Given the description of an element on the screen output the (x, y) to click on. 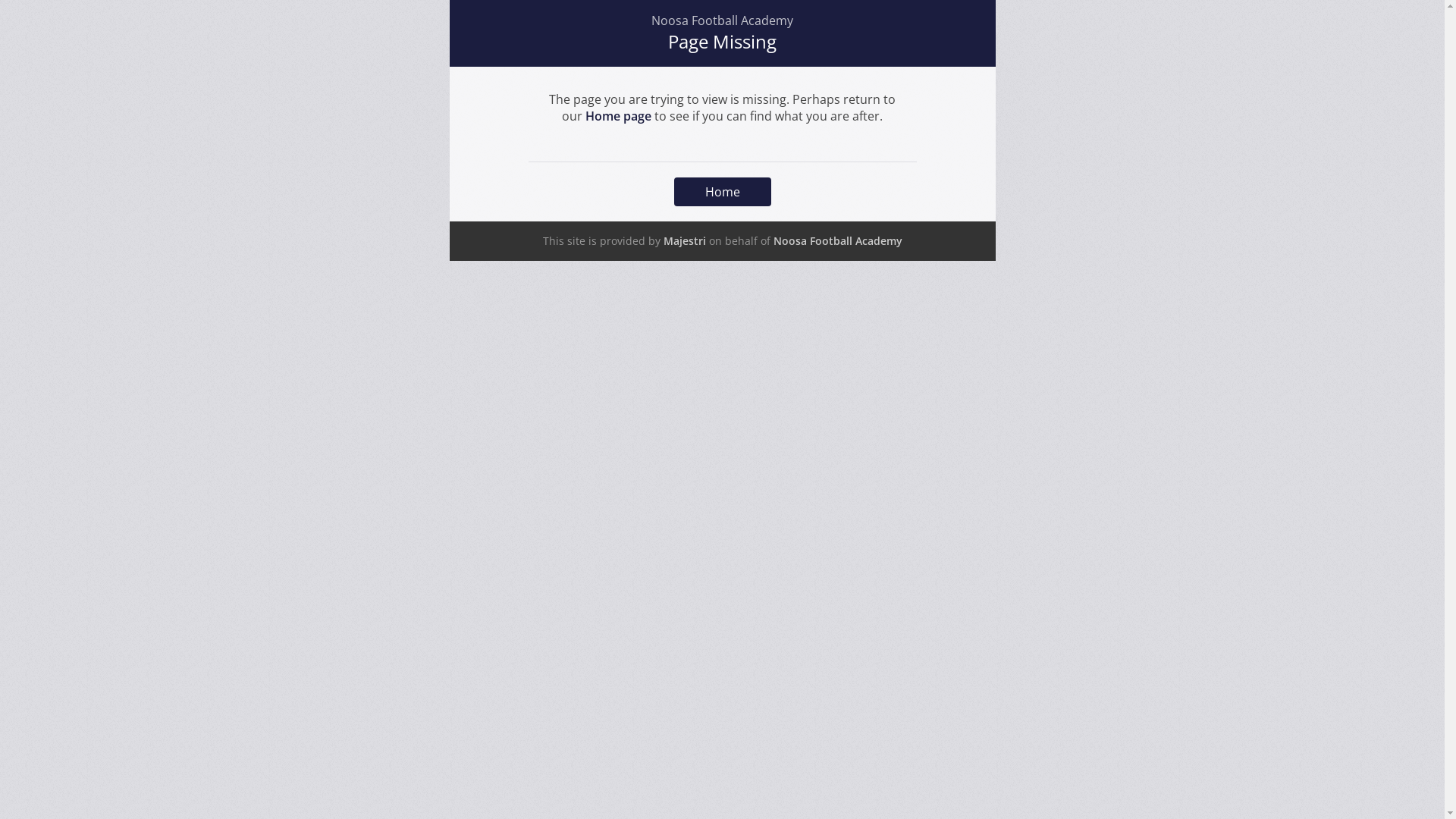
Home Element type: text (721, 191)
Home page Element type: text (618, 115)
Majestri Element type: text (683, 240)
Noosa Football Academy Element type: text (837, 240)
